Given the description of an element on the screen output the (x, y) to click on. 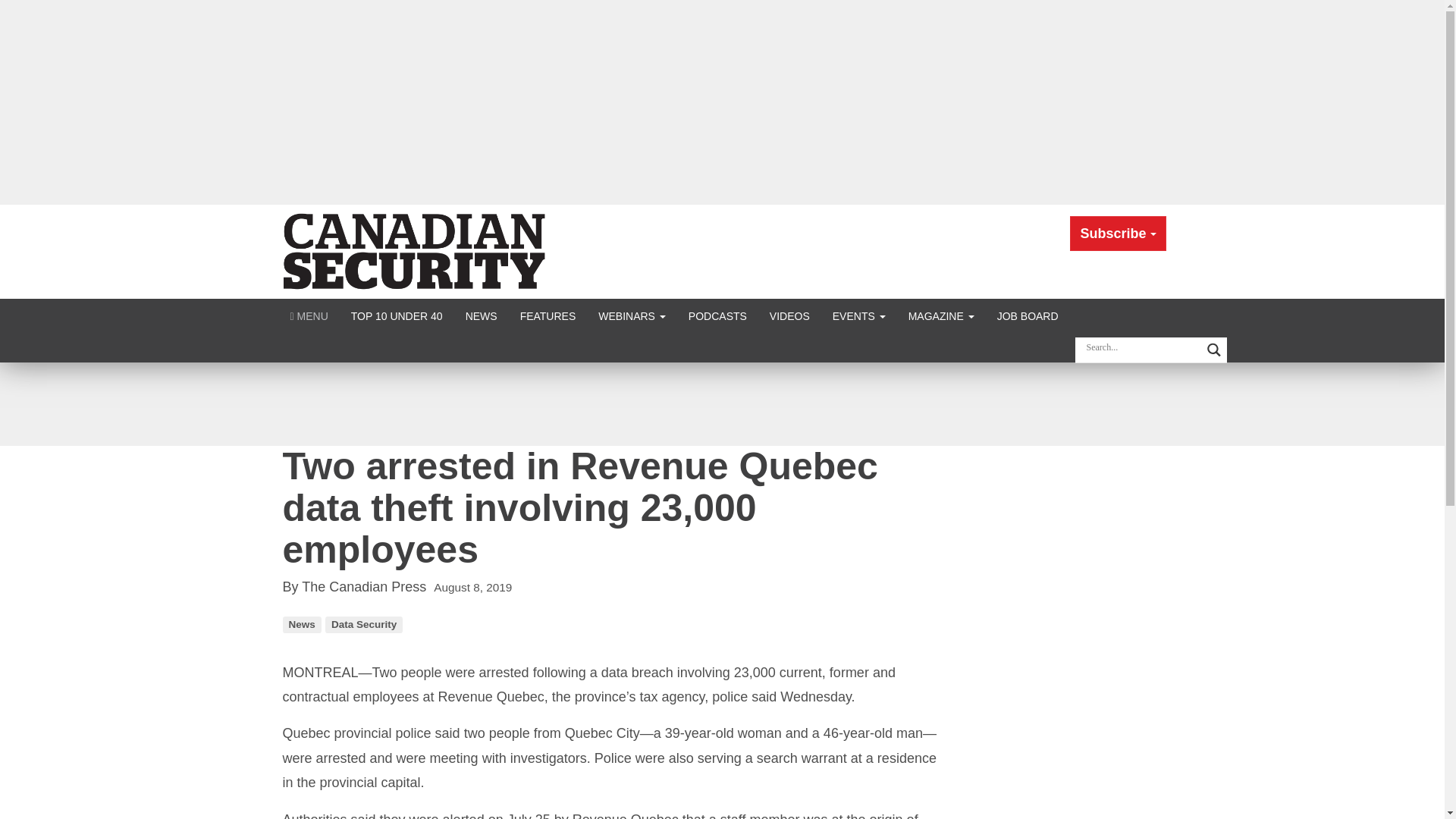
FEATURES (548, 315)
JOB BOARD (1027, 315)
Click to show site navigation (309, 315)
Canadian Security Magazine (415, 250)
3rd party ad content (721, 404)
PODCASTS (717, 315)
EVENTS (858, 315)
NEWS (481, 315)
MAGAZINE (940, 315)
